Given the description of an element on the screen output the (x, y) to click on. 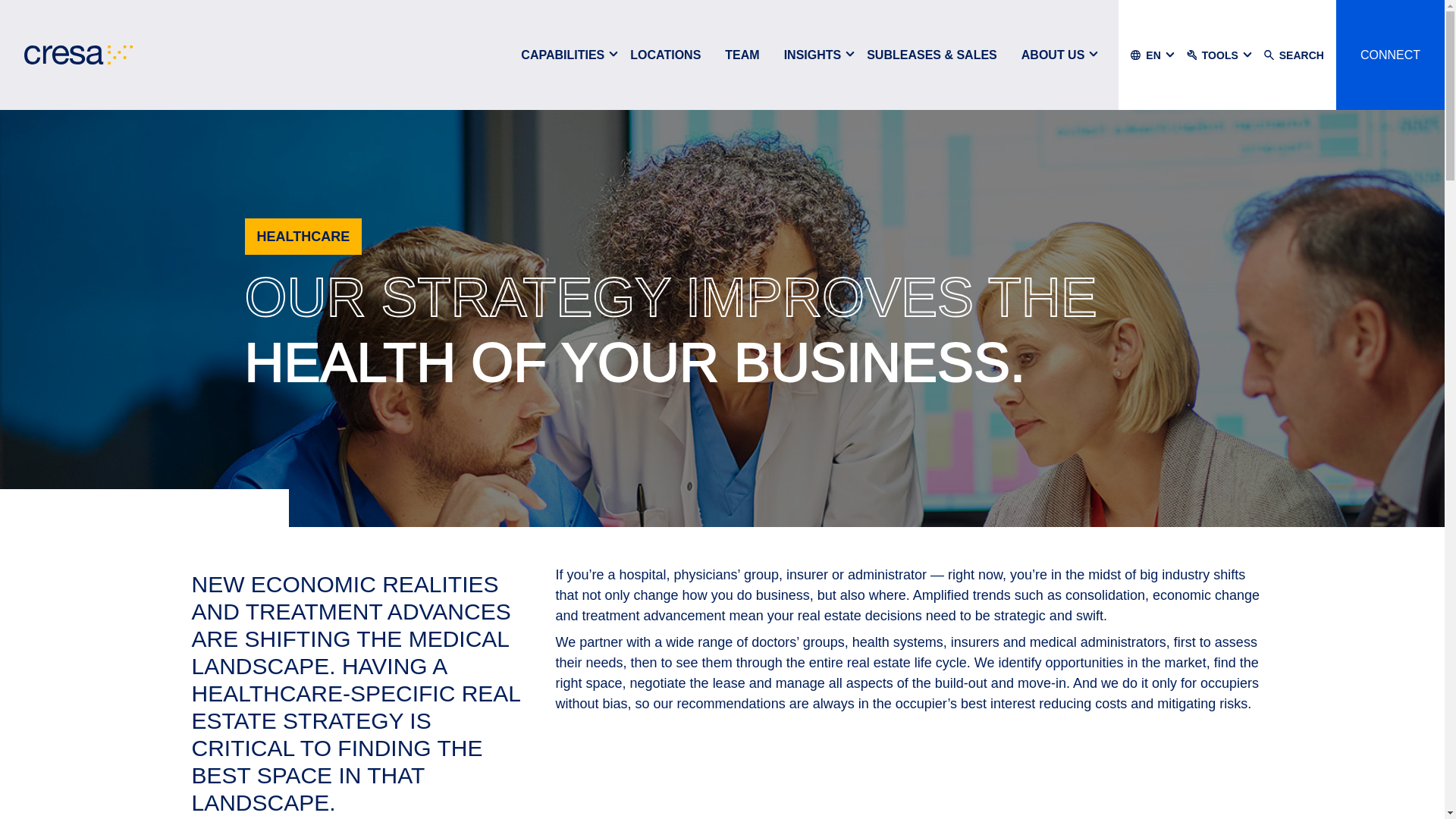
INSIGHTS (812, 54)
TEAM (742, 54)
LOCATIONS (665, 54)
CAPABILITIES (561, 54)
